Given the description of an element on the screen output the (x, y) to click on. 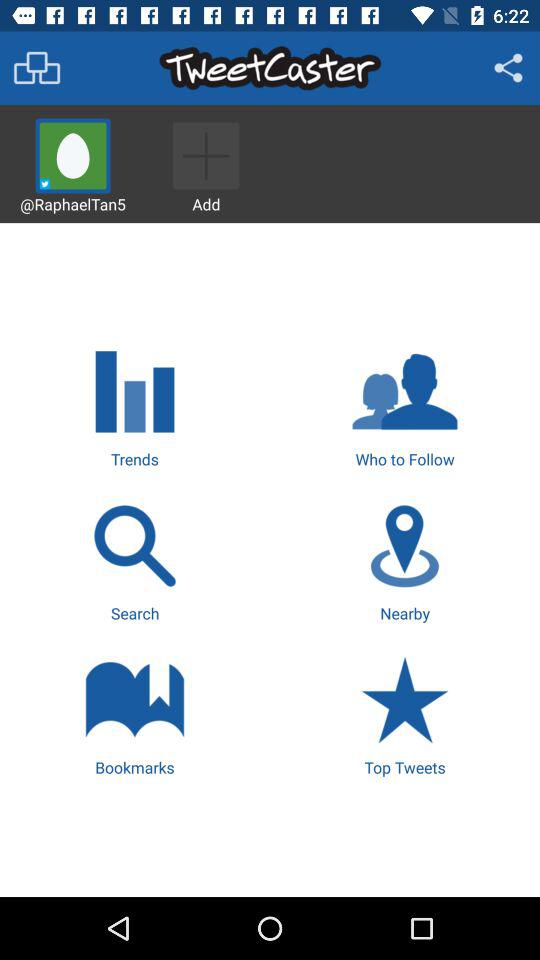
tap icon next to the nearby icon (134, 559)
